Given the description of an element on the screen output the (x, y) to click on. 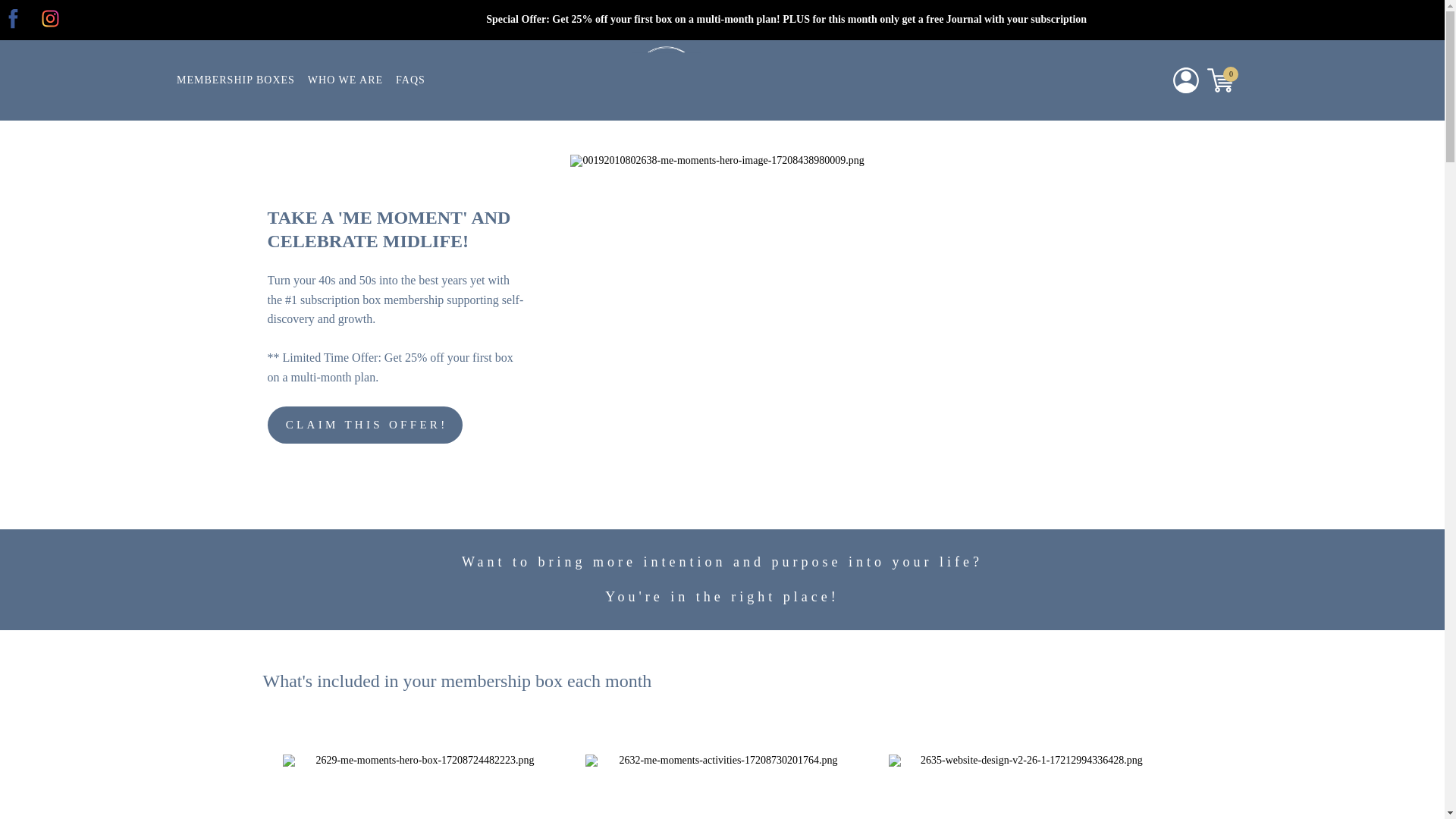
CLAIM THIS OFFER! (364, 424)
WHO WE ARE (344, 80)
MEMBERSHIP BOXES (235, 80)
FAQS (410, 80)
0 (1221, 80)
